Given the description of an element on the screen output the (x, y) to click on. 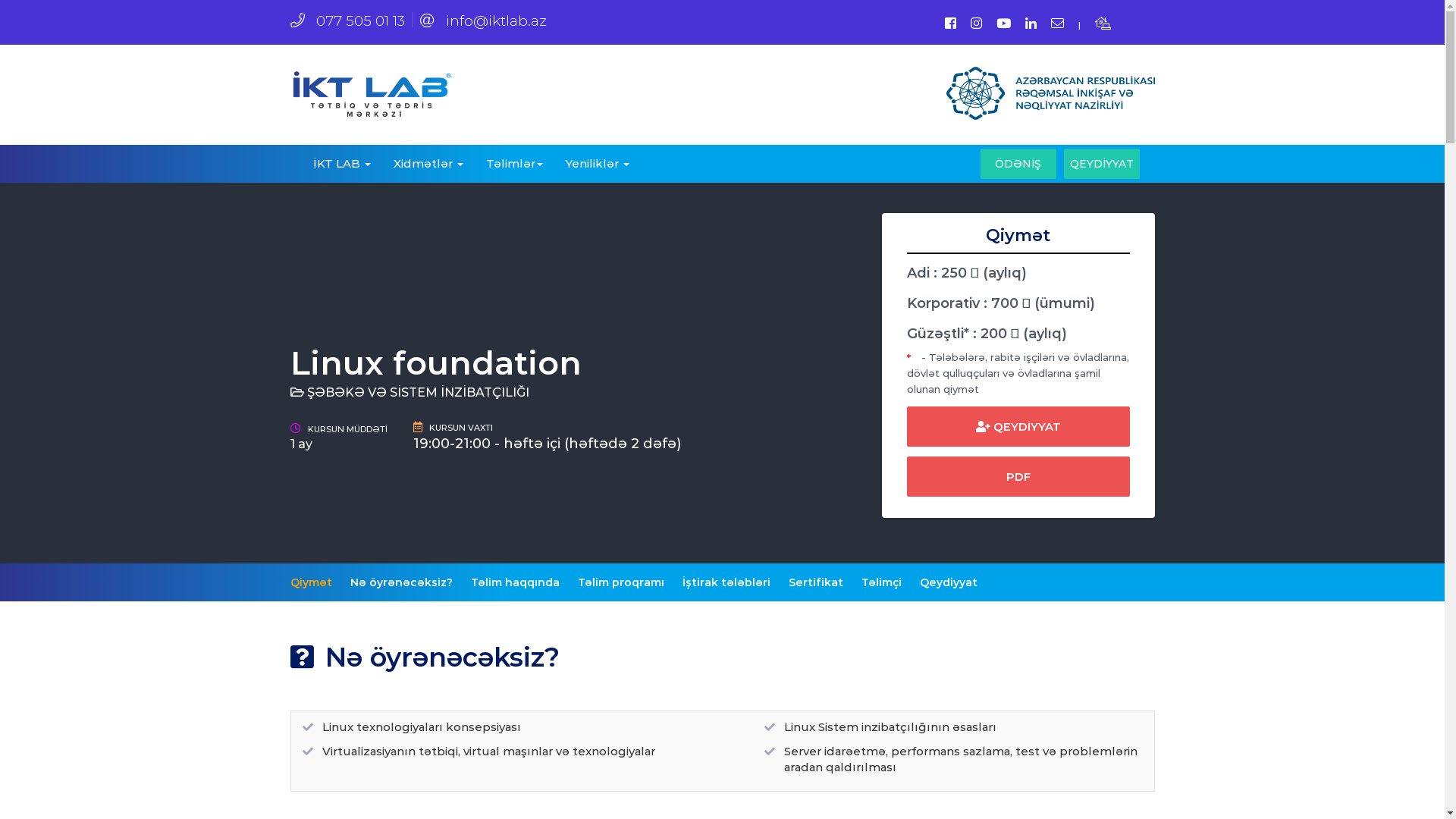
077 505 01 13 Element type: text (346, 20)
Sertifikat Element type: text (815, 582)
Qeydiyyat Element type: text (947, 582)
info@iktlab.az Element type: text (483, 20)
PDF Element type: text (1017, 476)
